Given the description of an element on the screen output the (x, y) to click on. 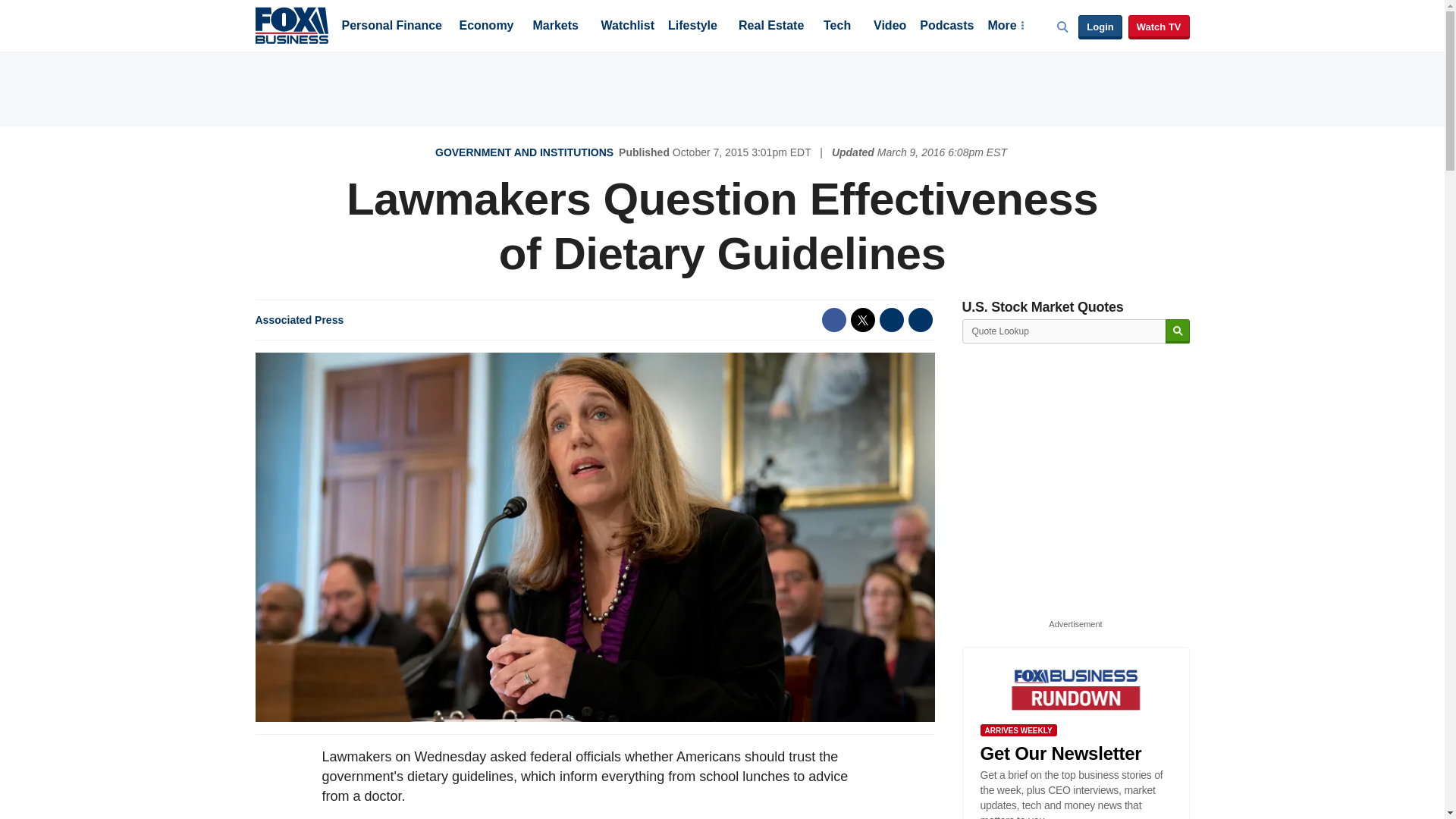
Fox Business (290, 24)
Economy (486, 27)
Lifestyle (692, 27)
Search (1176, 331)
Markets (555, 27)
Podcasts (947, 27)
Login (1099, 27)
Watchlist (626, 27)
More (1005, 27)
Real Estate (770, 27)
